Given the description of an element on the screen output the (x, y) to click on. 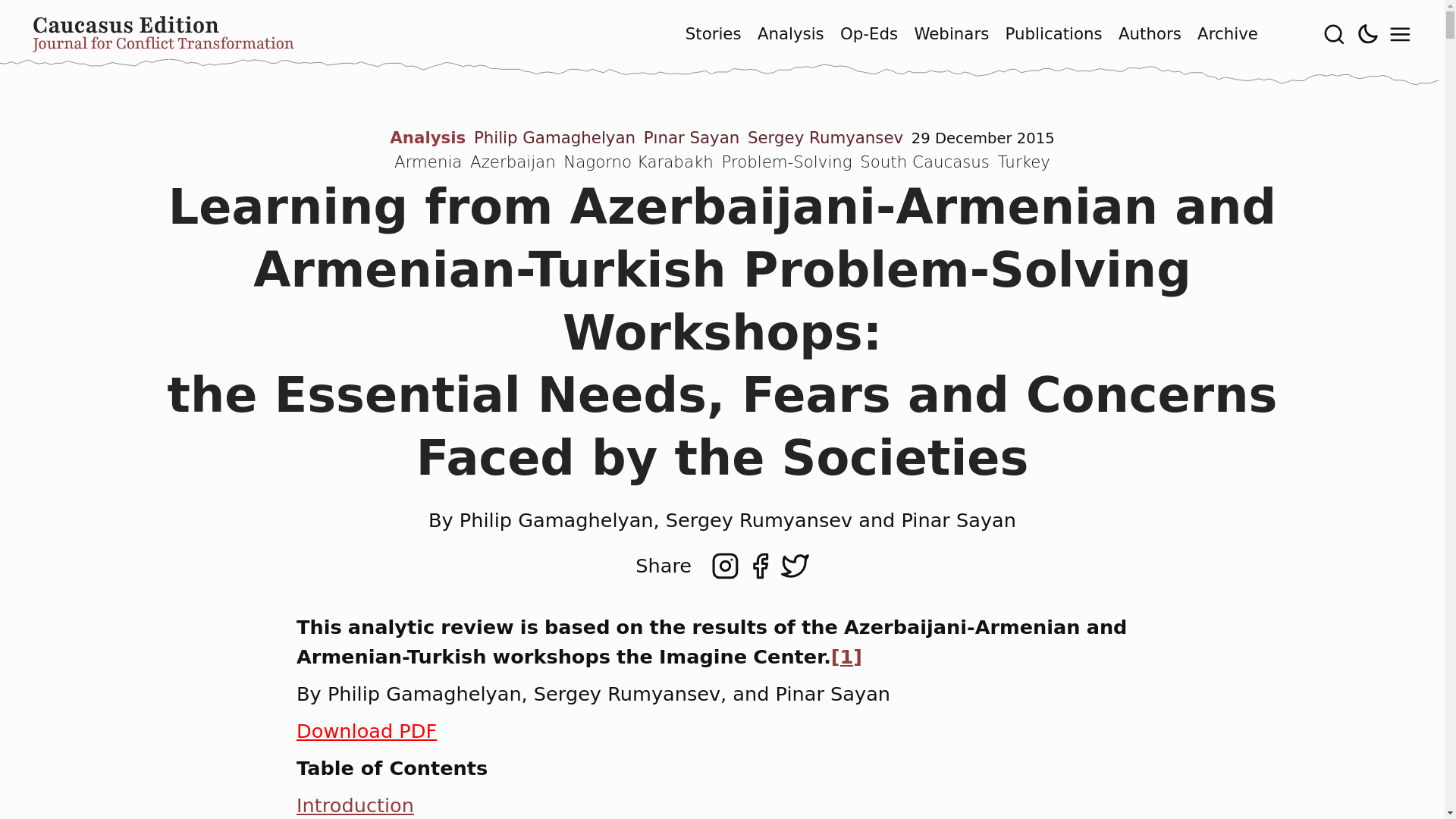
Archive (1226, 34)
Stories (713, 34)
Introduction (355, 804)
Sergey Rumyansev (825, 137)
Webinars (951, 34)
Op-Eds (869, 34)
Azerbaijan (513, 161)
Philip Gamaghelyan (554, 137)
Publications (1054, 34)
Turkey (1023, 161)
